Given the description of an element on the screen output the (x, y) to click on. 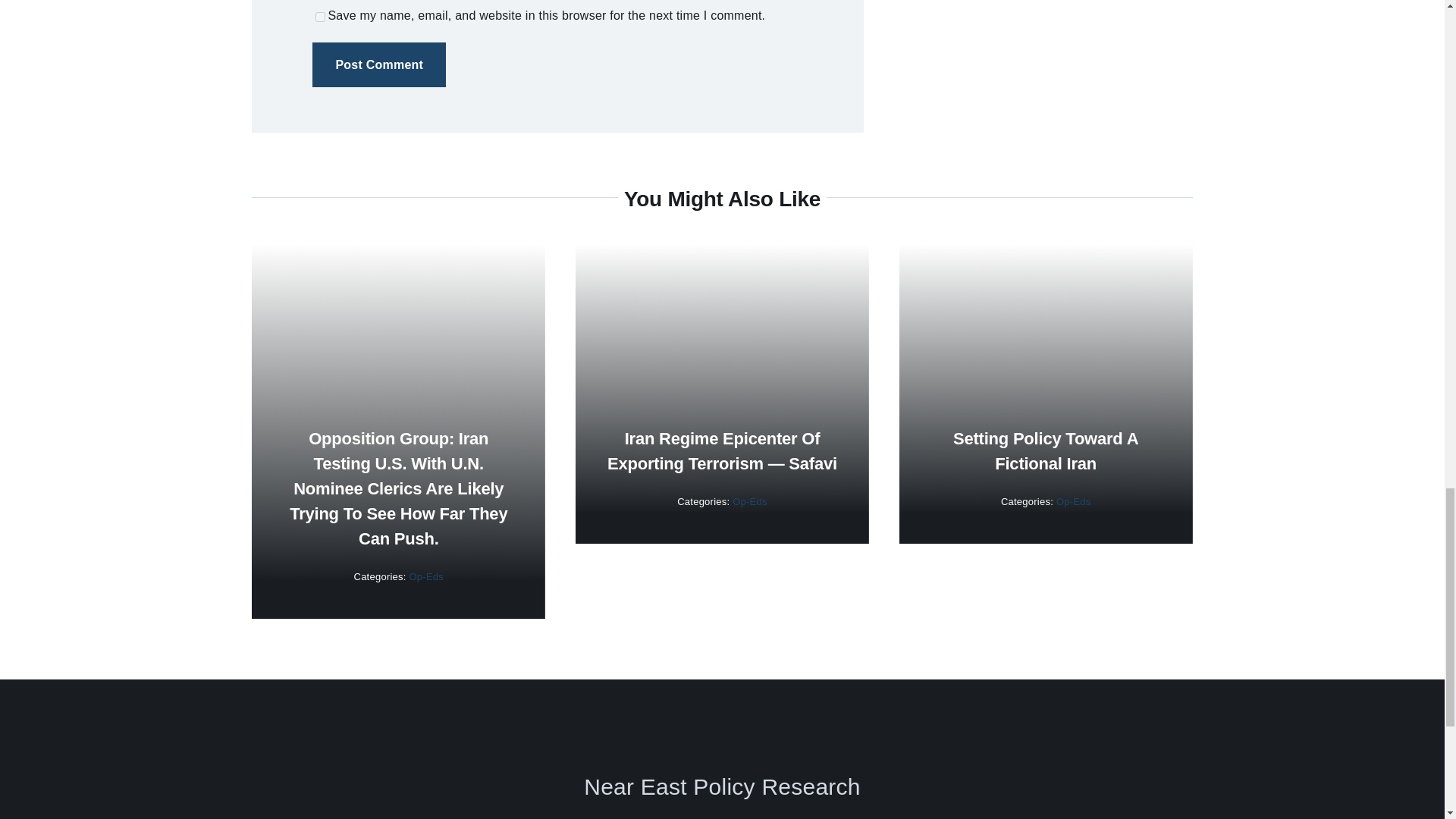
yes (319, 17)
Post Comment (379, 64)
Post Comment (379, 64)
